Given the description of an element on the screen output the (x, y) to click on. 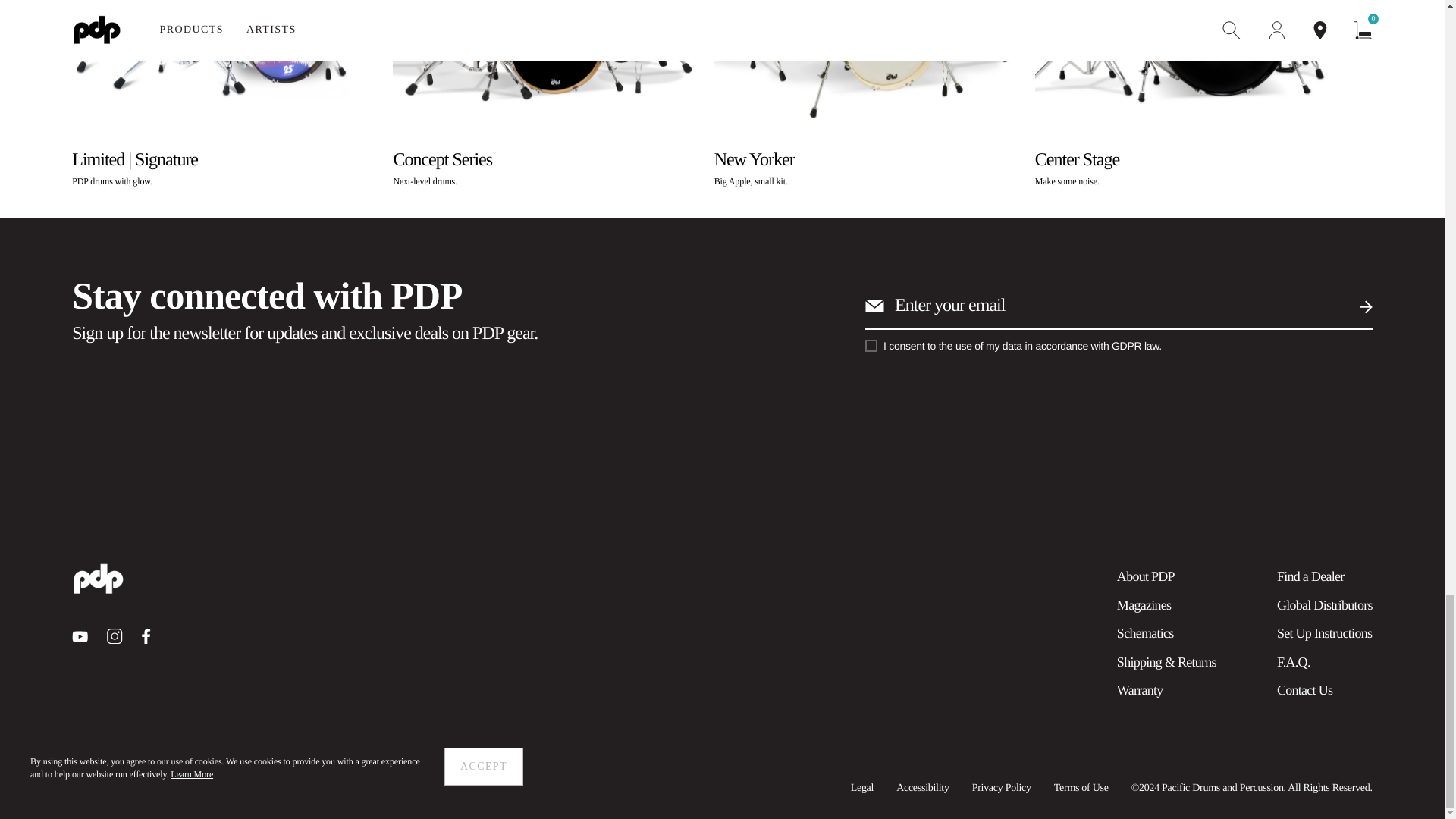
SUBMIT EMAIL (1353, 306)
About PDP (1145, 575)
Youtube (79, 635)
Instagram (79, 636)
